Given the description of an element on the screen output the (x, y) to click on. 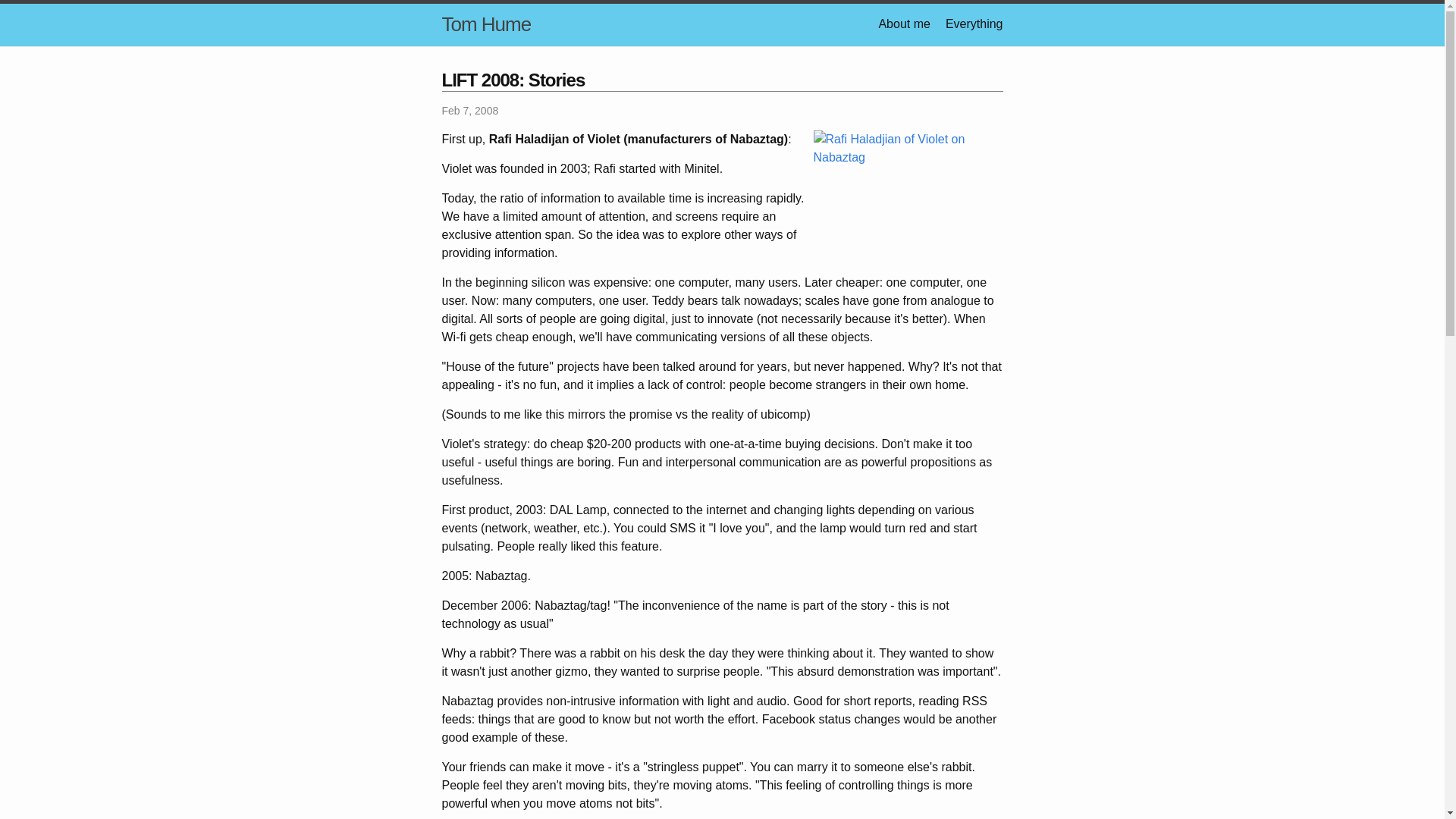
Everything (973, 23)
About me (903, 23)
Tom Hume (486, 24)
